Given the description of an element on the screen output the (x, y) to click on. 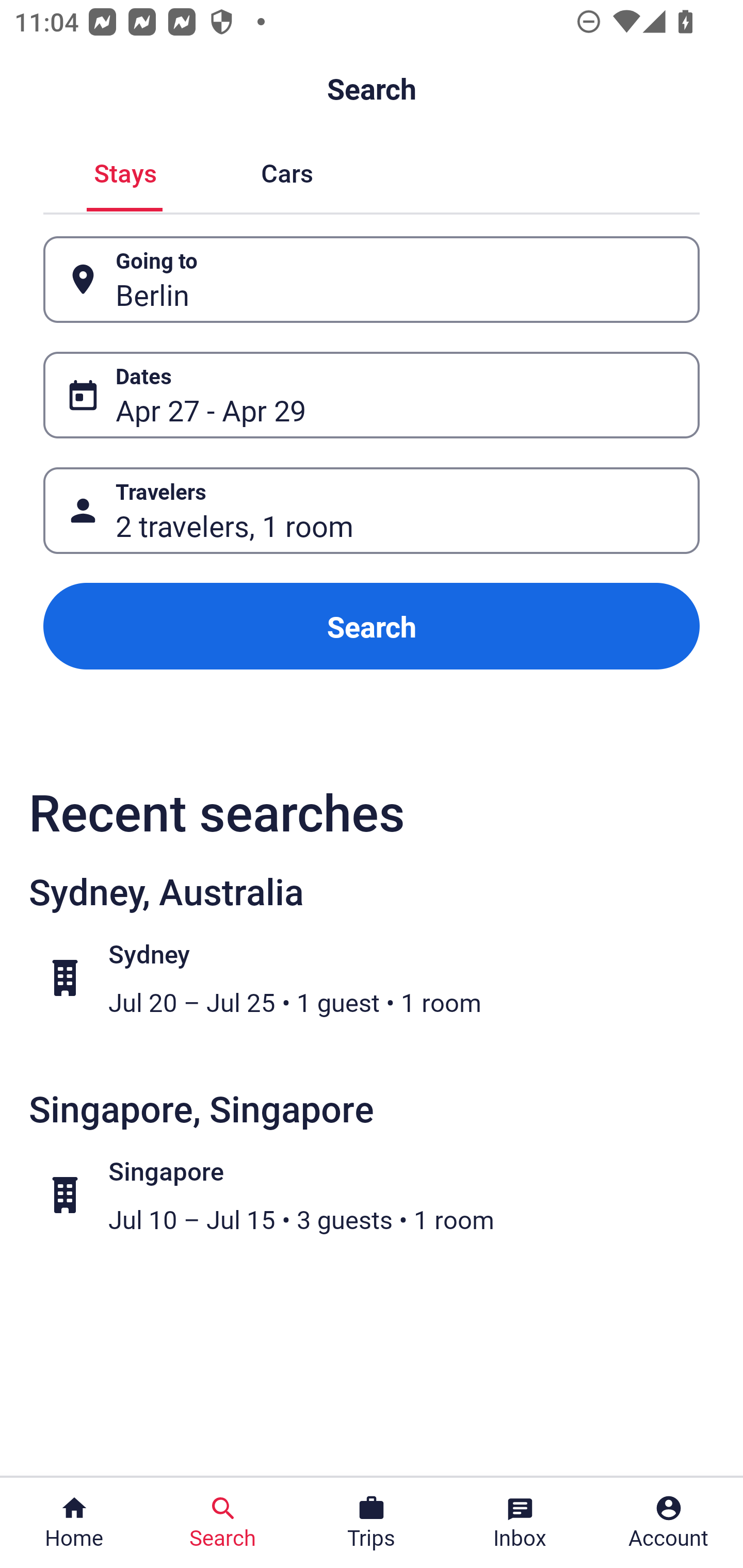
Cars (286, 171)
Going to Button Berlin (371, 279)
Dates Button Apr 27 - Apr 29 (371, 395)
Travelers Button 2 travelers, 1 room (371, 510)
Search (371, 626)
Sydney Jul 20 – Jul 25 • 1 guest • 1 room (382, 978)
Singapore Jul 10 – Jul 15 • 3 guests • 1 room (382, 1194)
Home Home Button (74, 1522)
Trips Trips Button (371, 1522)
Inbox Inbox Button (519, 1522)
Account Profile. Button (668, 1522)
